Given the description of an element on the screen output the (x, y) to click on. 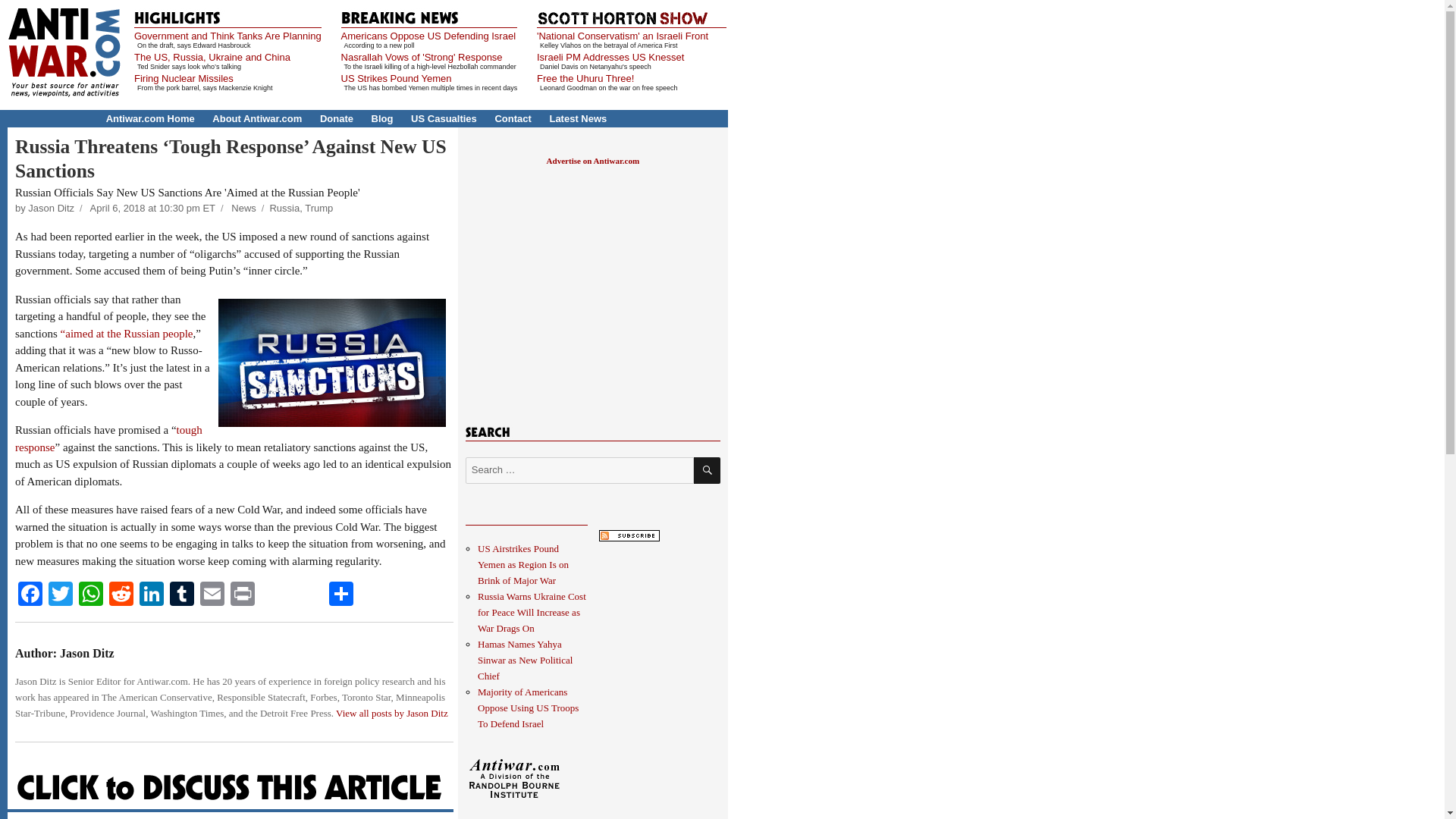
Blog (382, 118)
Twitter (60, 595)
LinkedIn (151, 595)
Facebook (29, 595)
Twitter (60, 595)
Russia (284, 207)
Tumblr (181, 595)
Nasrallah Vows of 'Strong' Response (421, 57)
tough response (108, 438)
US Strikes Pound Yemen (395, 78)
